Given the description of an element on the screen output the (x, y) to click on. 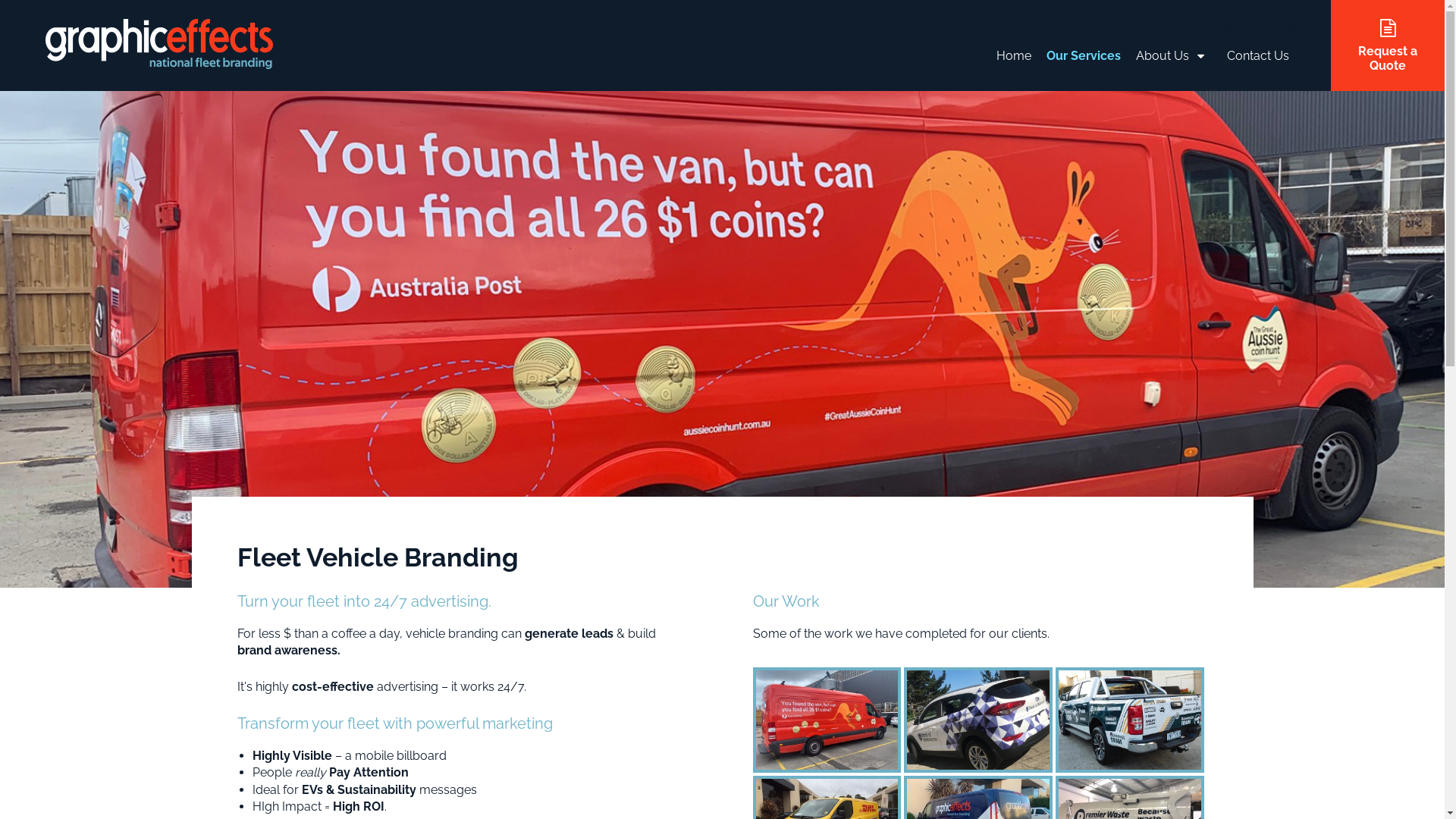
Request a Quote Element type: text (1387, 45)
Click to enlarge image Bunnings-1.jpg Element type: hover (1129, 719)
Click to enlarge image BOM-2.jpg Element type: hover (977, 719)
Home Element type: text (1013, 57)
Click to enlarge image AP-Coin-Hunt.jpg Element type: hover (826, 719)
About Us Element type: text (1173, 57)
Our Services Element type: text (1083, 57)
Contact Us Element type: text (1257, 57)
